Given the description of an element on the screen output the (x, y) to click on. 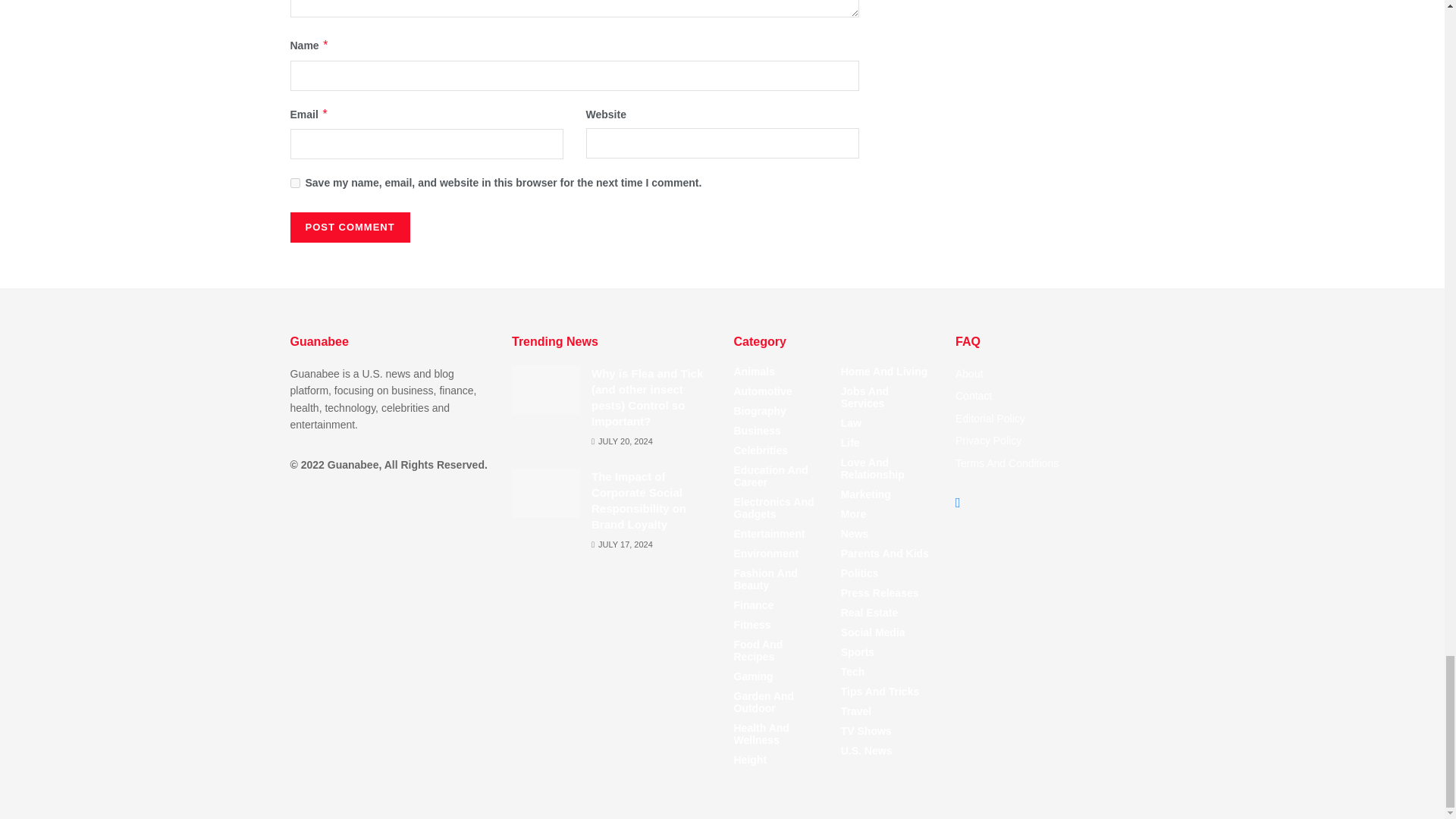
Post Comment (349, 227)
yes (294, 183)
